Given the description of an element on the screen output the (x, y) to click on. 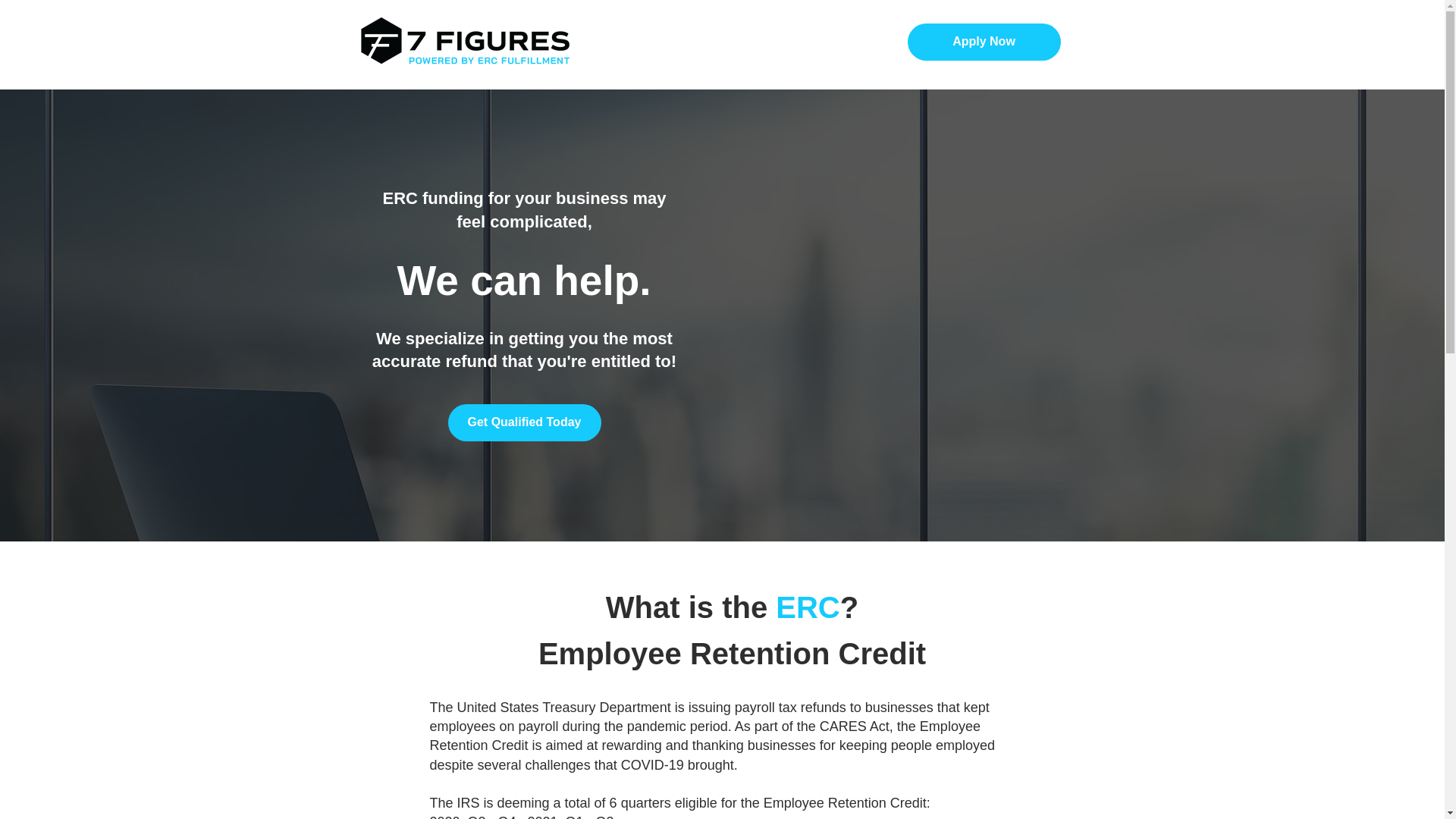
Apply Now (983, 41)
Get Qualified Today (522, 422)
